Given the description of an element on the screen output the (x, y) to click on. 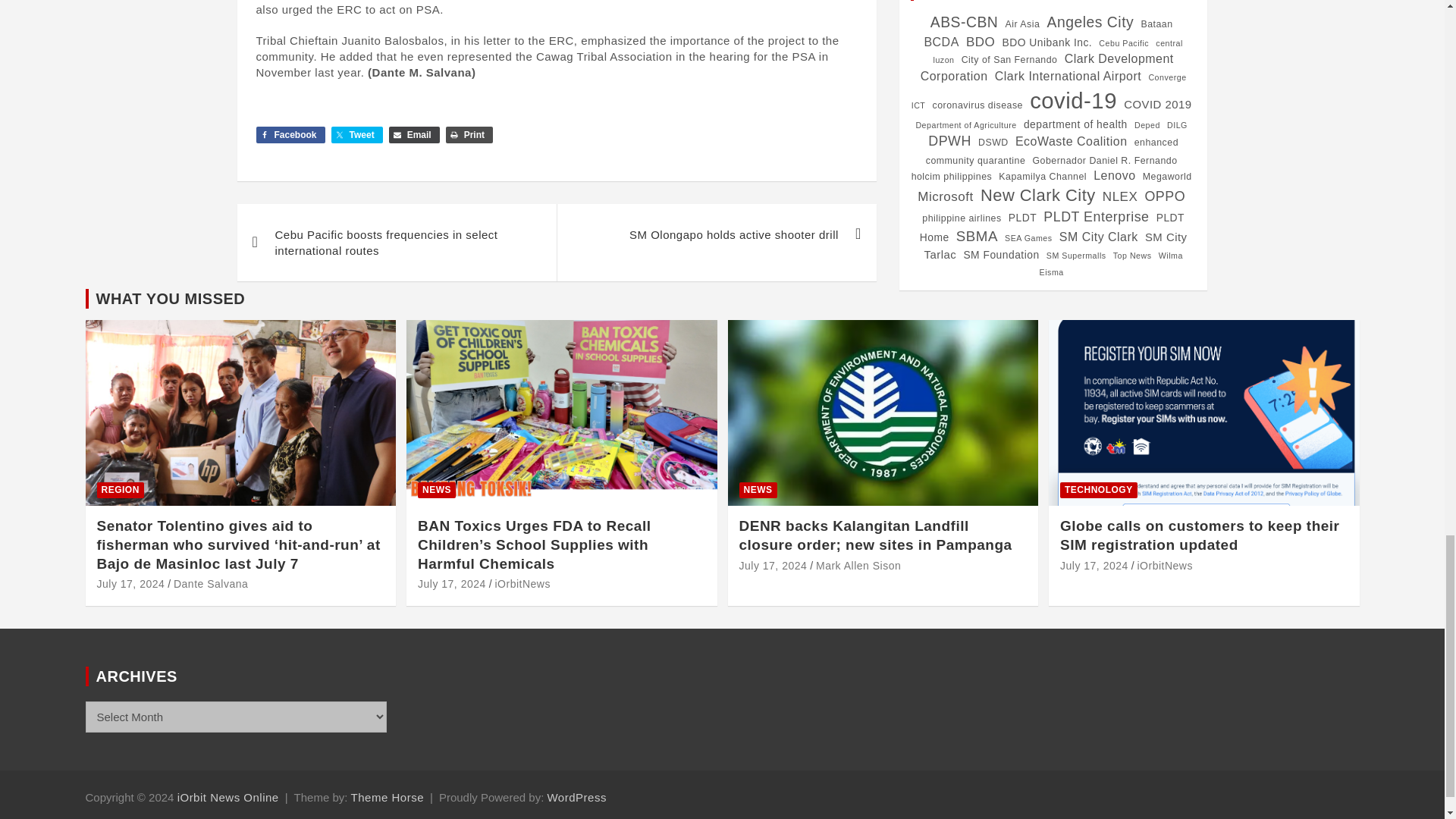
Print this Page (469, 134)
Share via Email (413, 134)
Email (413, 134)
Share on Twitter (356, 134)
Share on Facebook (290, 134)
